Given the description of an element on the screen output the (x, y) to click on. 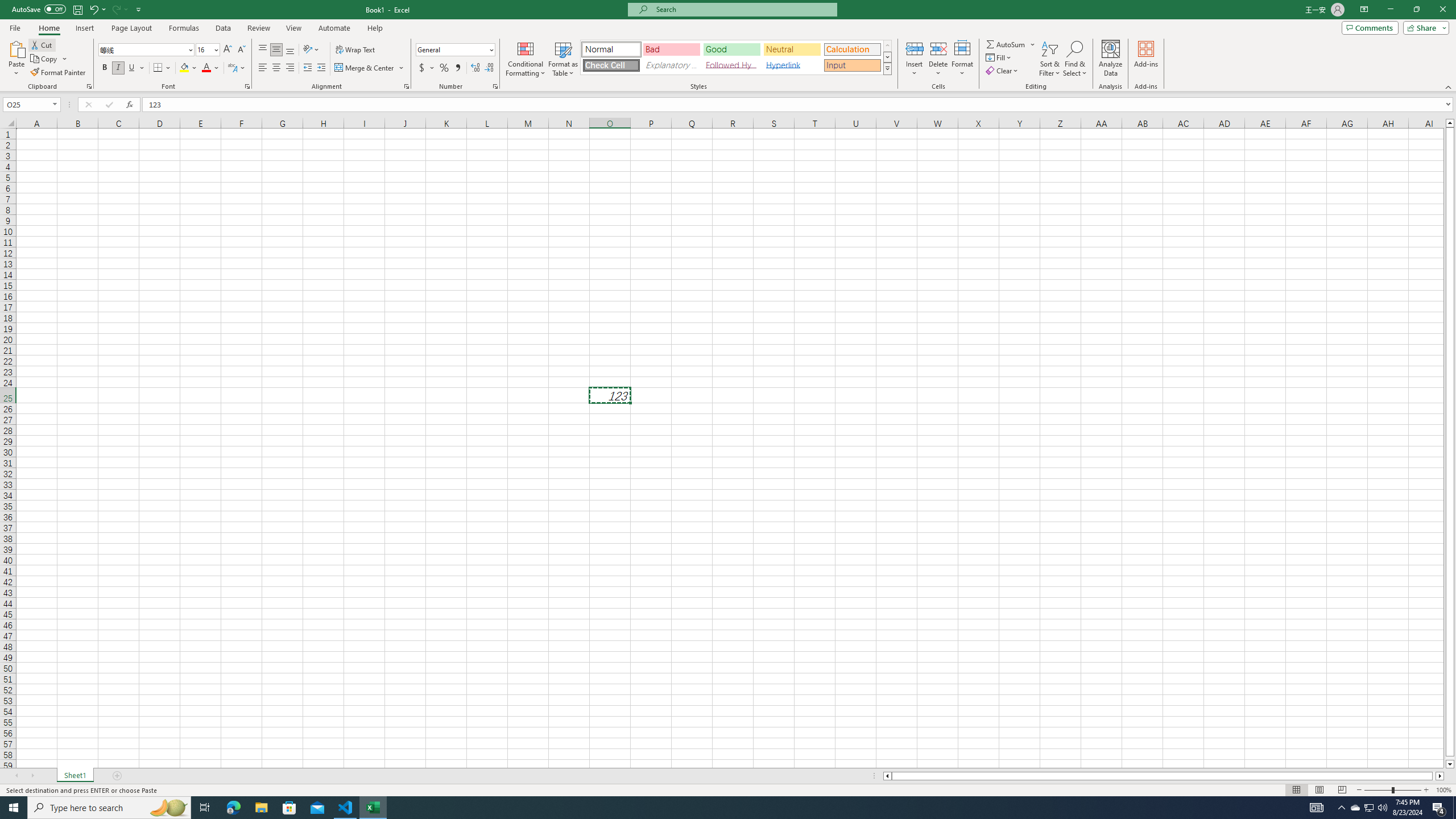
Delete Cells... (938, 48)
Number Format (455, 49)
Decrease Font Size (240, 49)
Hyperlink (791, 65)
Format Cell Font (247, 85)
Show Phonetic Field (236, 67)
Conditional Formatting (525, 58)
Paste (16, 58)
Merge & Center (365, 67)
Cut (42, 44)
Number Format (451, 49)
Font Size (207, 49)
